Given the description of an element on the screen output the (x, y) to click on. 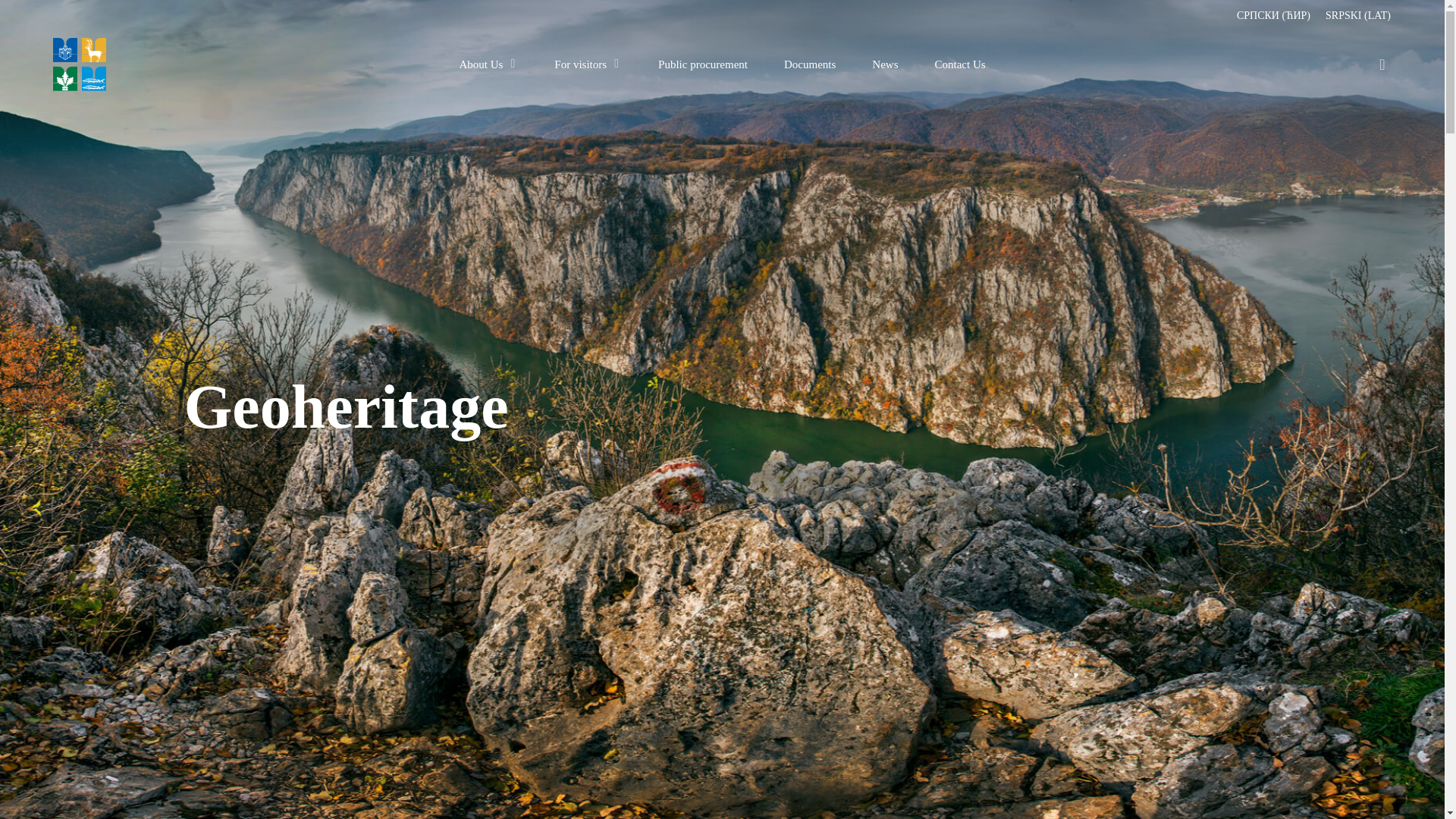
News (885, 64)
Contact Us (959, 64)
Documents (809, 64)
Public procurement (703, 64)
search (1382, 64)
About Us (488, 64)
For visitors (587, 64)
